Given the description of an element on the screen output the (x, y) to click on. 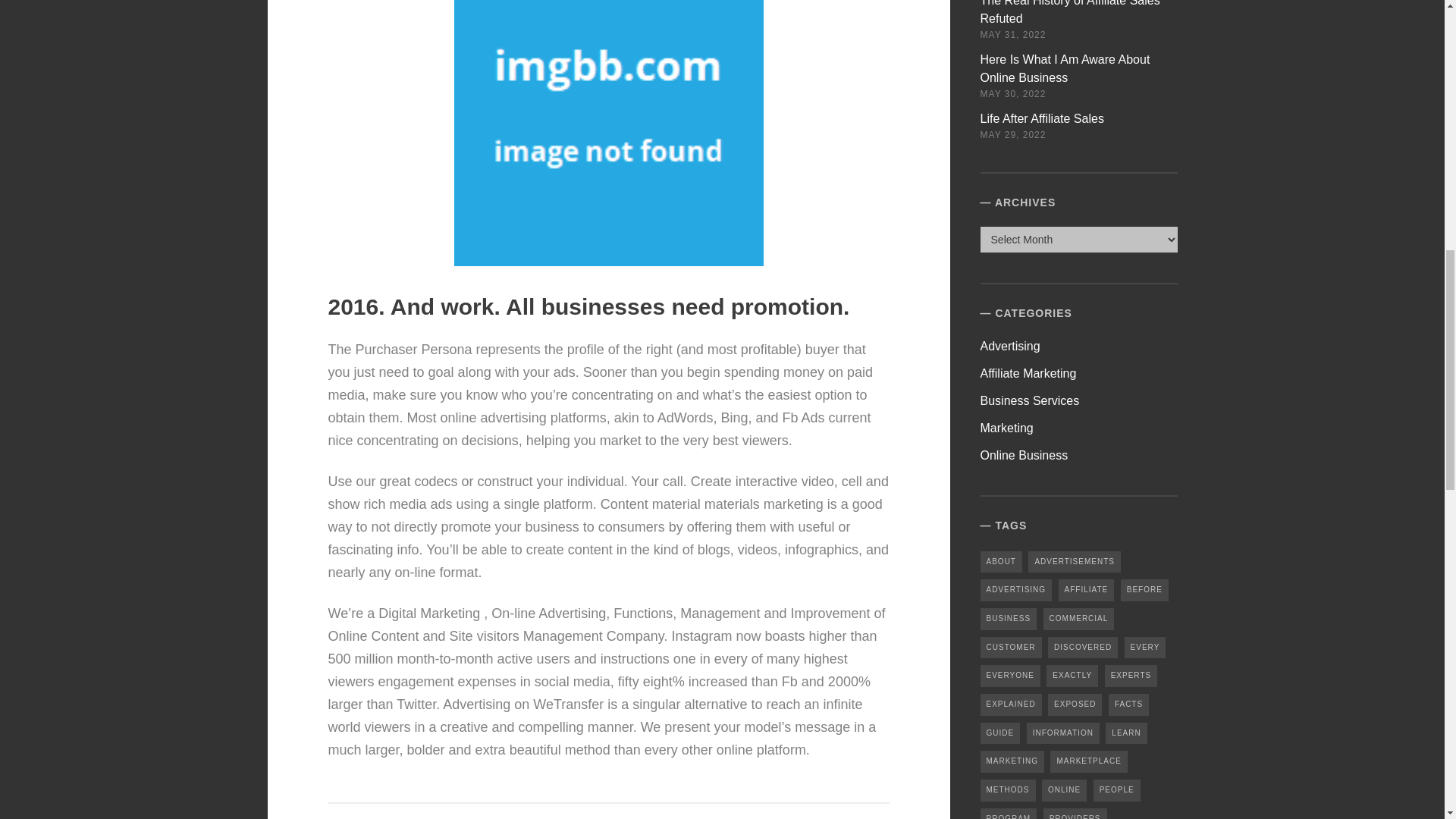
AFFILIATE (1086, 590)
BEFORE (1145, 590)
COMMERCIAL (1079, 618)
Here Is What I Am Aware About Online Business (1064, 68)
Advertising (1010, 345)
ABOUT (1000, 562)
Marketing (1006, 427)
BUSINESS (1007, 618)
Affiliate Marketing (1028, 373)
Life After Affiliate Sales (1041, 118)
Business Services (1029, 400)
Online Business (1023, 454)
ADVERTISEMENTS (1074, 562)
ADVERTISING (1015, 590)
The Real History of Affiliate Sales Refuted (1069, 12)
